Given the description of an element on the screen output the (x, y) to click on. 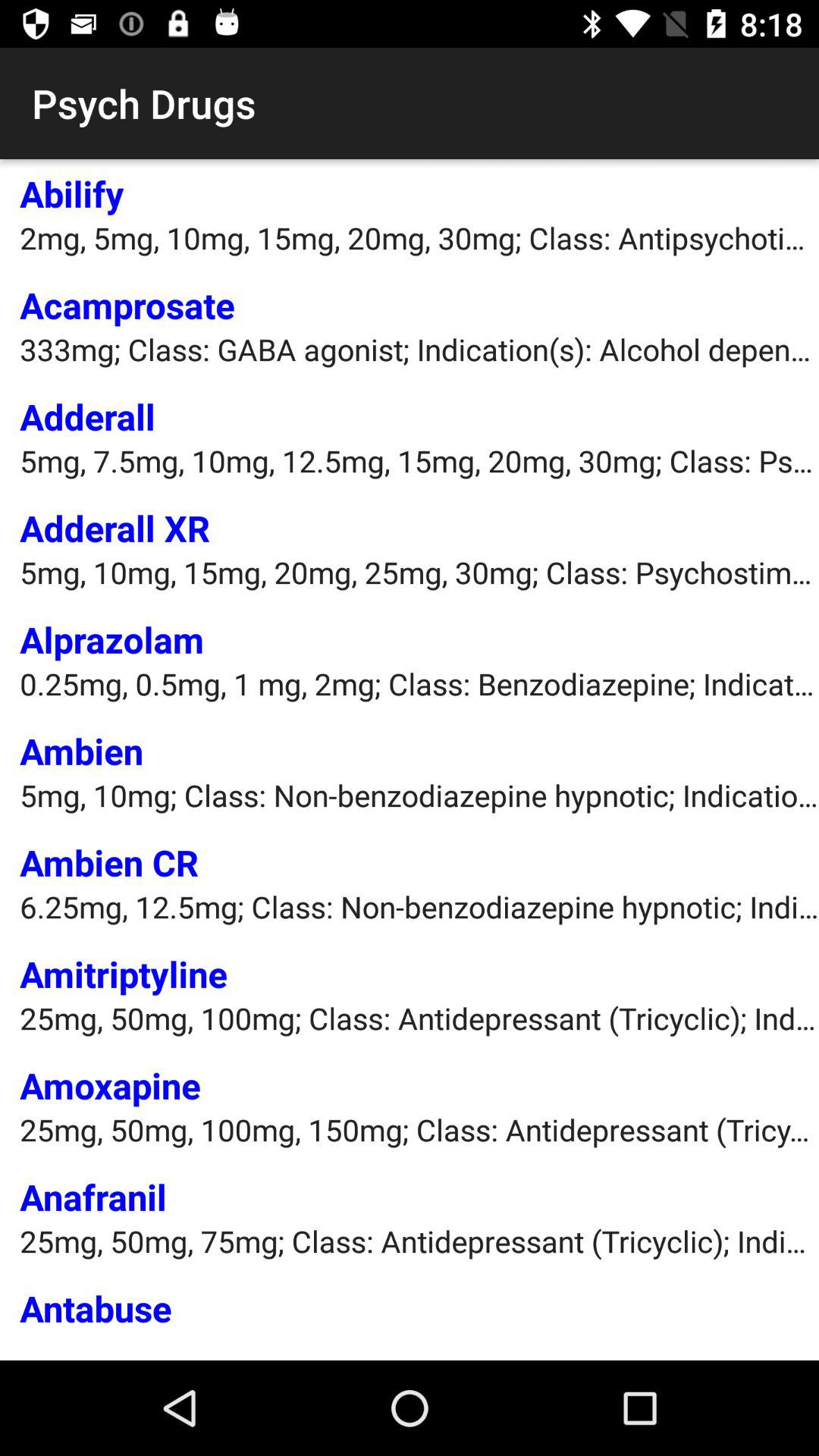
scroll until the antabuse (95, 1308)
